Given the description of an element on the screen output the (x, y) to click on. 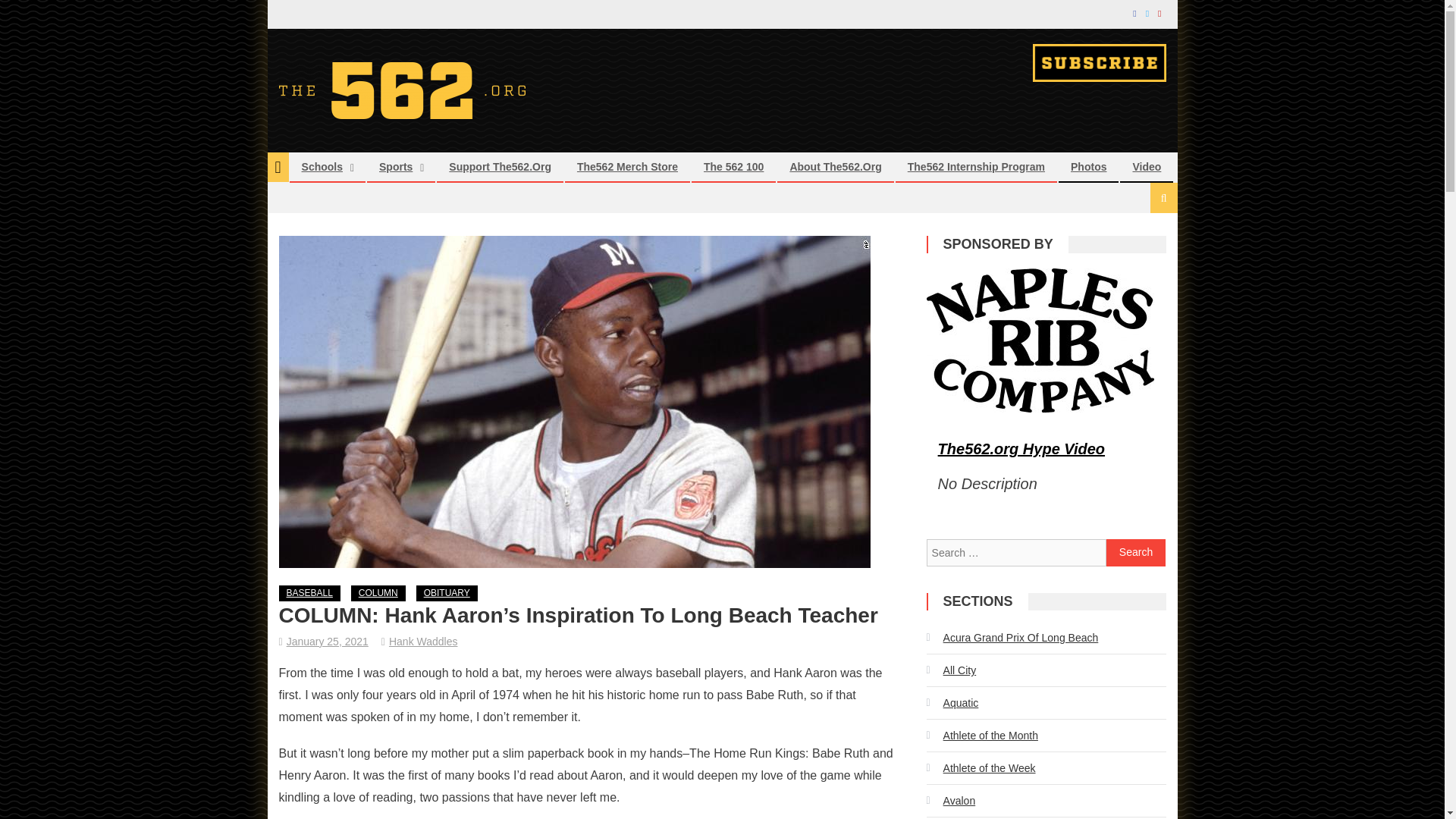
The562 Merch Store (627, 166)
The 562 100 (733, 166)
Search (1136, 552)
Schools (321, 166)
Sports (395, 166)
Support The562.Org (500, 166)
About The562.Org (834, 166)
Search (1136, 552)
